Given the description of an element on the screen output the (x, y) to click on. 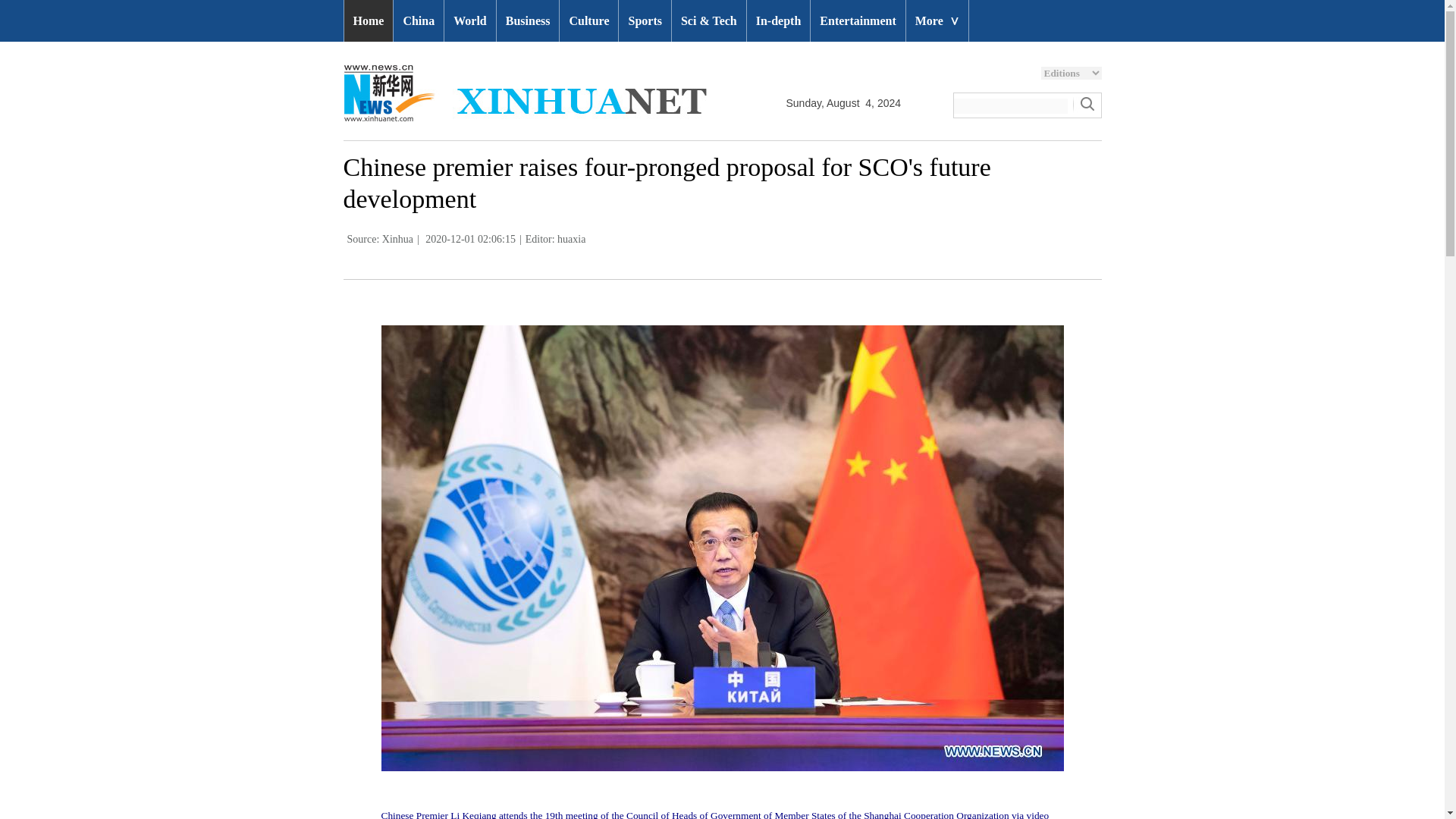
Business (527, 20)
Sports (643, 20)
Culture (588, 20)
Entertainment (857, 20)
In-depth (778, 20)
Home (368, 20)
World (470, 20)
China (418, 20)
